Given the description of an element on the screen output the (x, y) to click on. 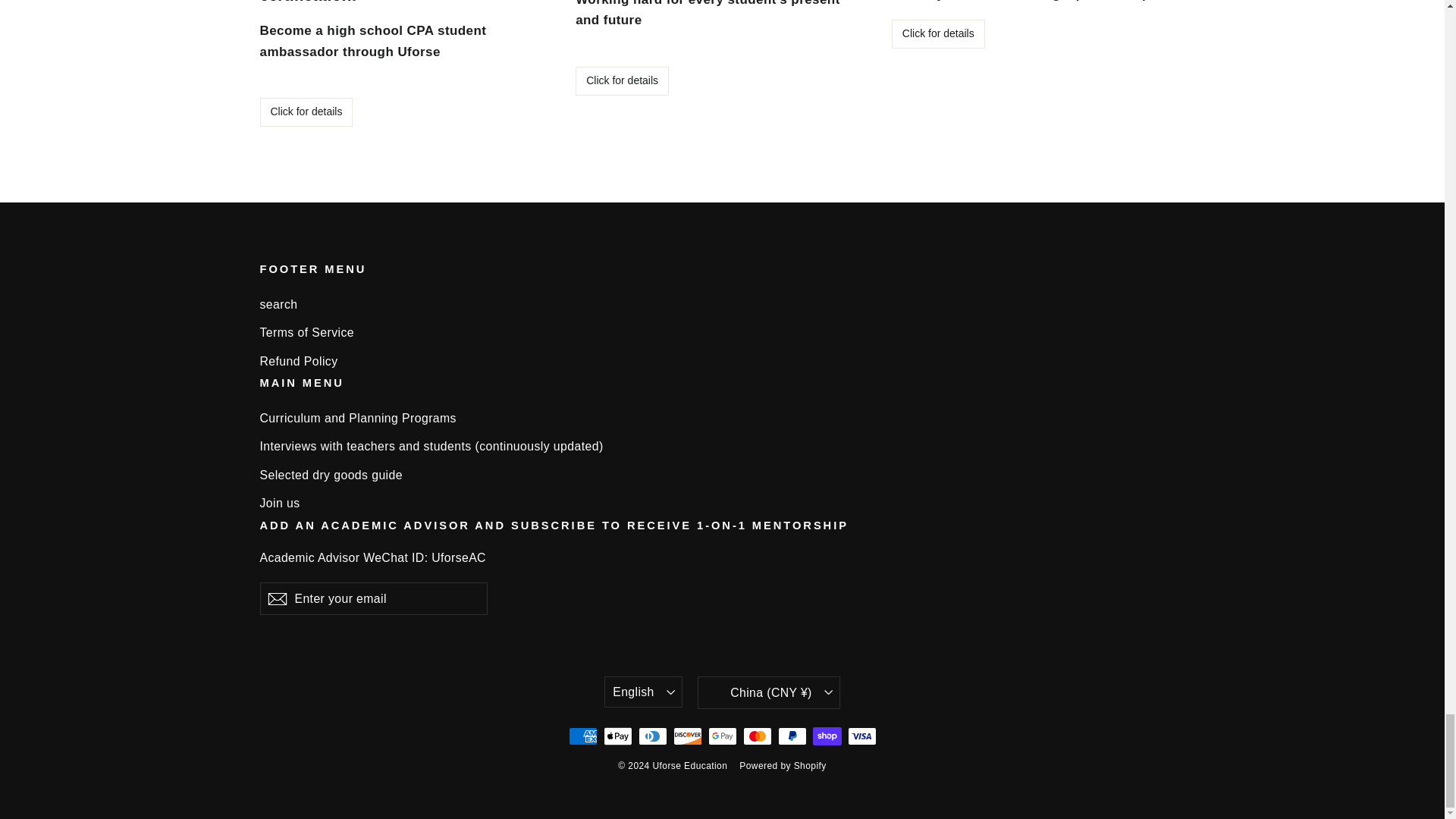
icon-email (276, 598)
Diners Club (652, 736)
Mastercard (756, 736)
Discover (686, 736)
Apple Pay (617, 736)
American Express (582, 736)
Google Pay (721, 736)
PayPal (791, 736)
